Given the description of an element on the screen output the (x, y) to click on. 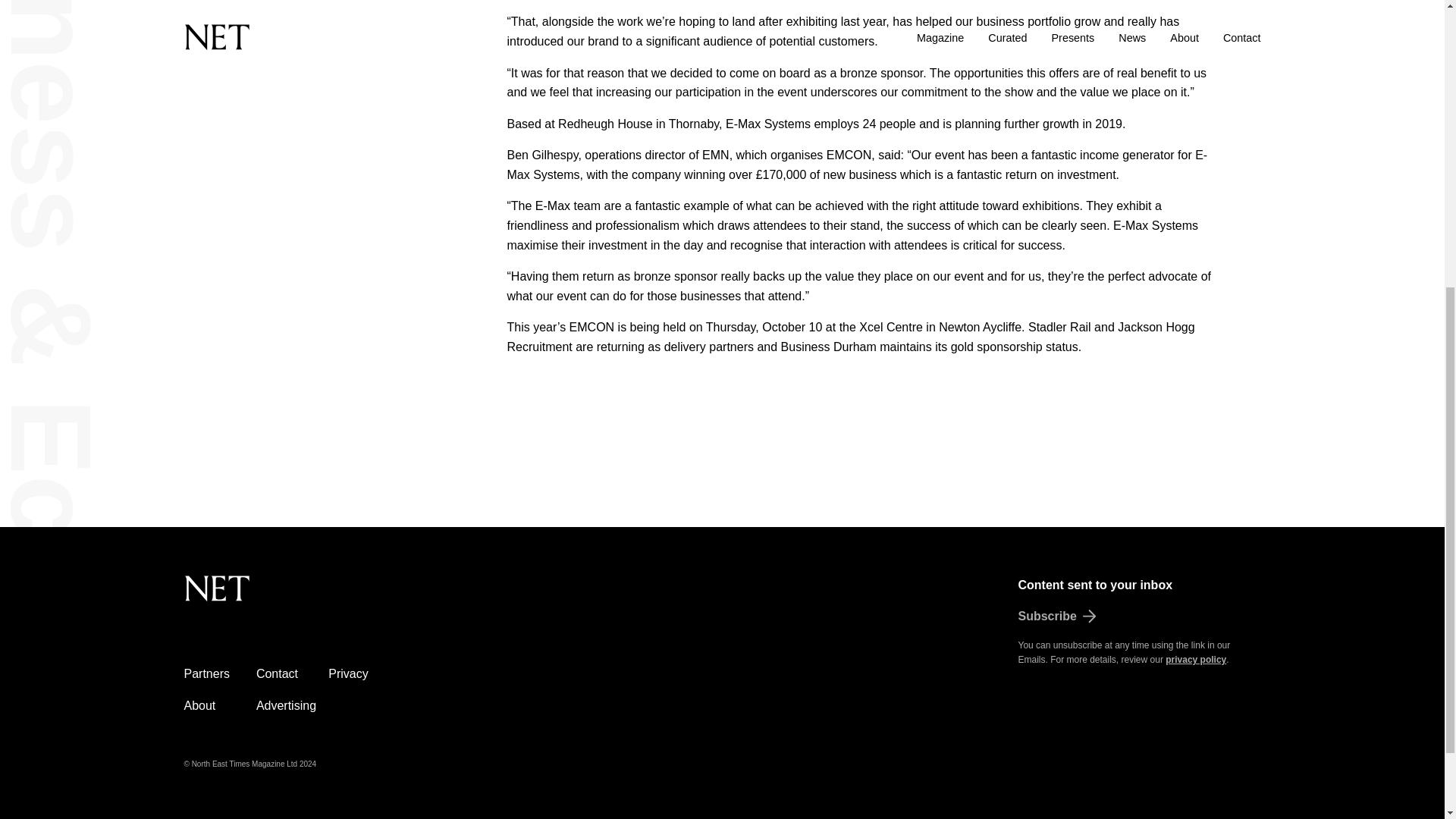
Advertising (285, 705)
Subscribe to the North East Times Magazine newsletter (1138, 616)
Partners (205, 673)
About (199, 705)
Privacy (348, 673)
Subscribe (1138, 616)
Contact (277, 673)
Return to the top of this page (293, 596)
privacy policy (1195, 659)
Read our full privacy notice (1195, 659)
